Given the description of an element on the screen output the (x, y) to click on. 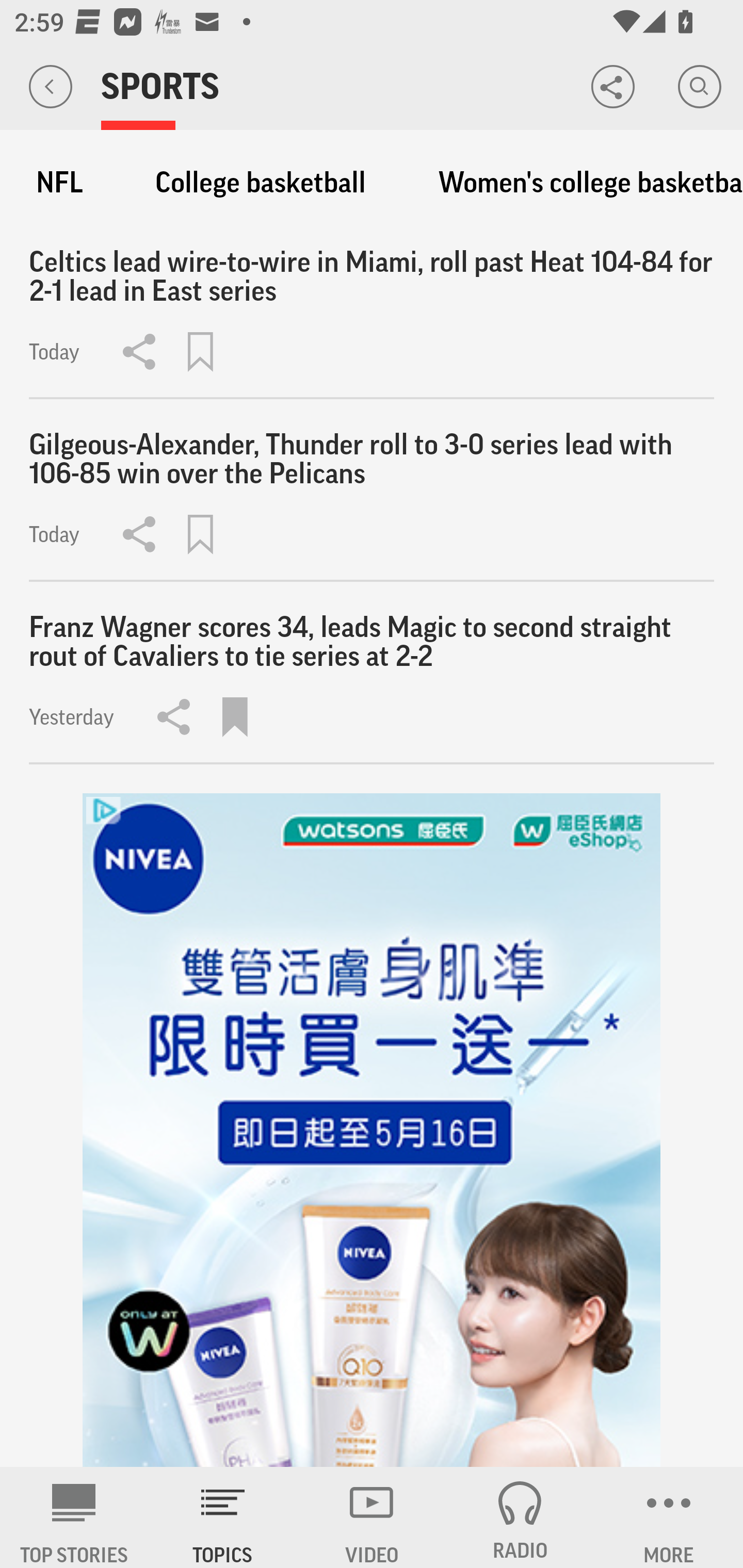
NFL (59, 182)
College basketball (260, 182)
Women's college basketball (581, 182)
hsxiu9a0_320x480 (371, 1130)
AP News TOP STORIES (74, 1517)
TOPICS (222, 1517)
VIDEO (371, 1517)
RADIO (519, 1517)
MORE (668, 1517)
